Given the description of an element on the screen output the (x, y) to click on. 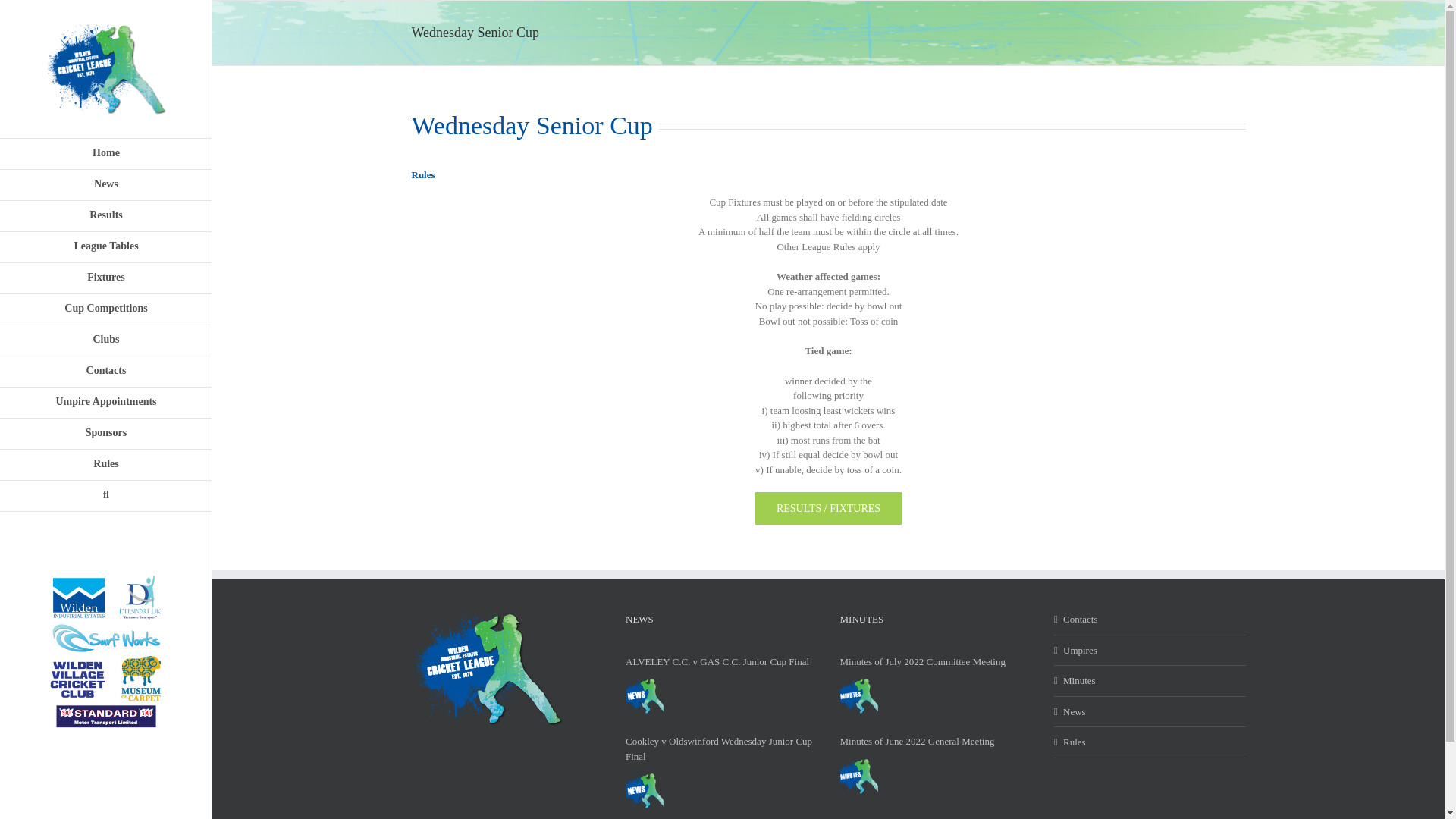
Clubs (106, 340)
Results (106, 215)
Fixtures (106, 278)
Contacts (106, 371)
Home (106, 153)
League Tables (106, 246)
Umpire Appointments (106, 402)
Sponsors (106, 433)
Minutes of July 2022 Committee Meeting (858, 695)
